Given the description of an element on the screen output the (x, y) to click on. 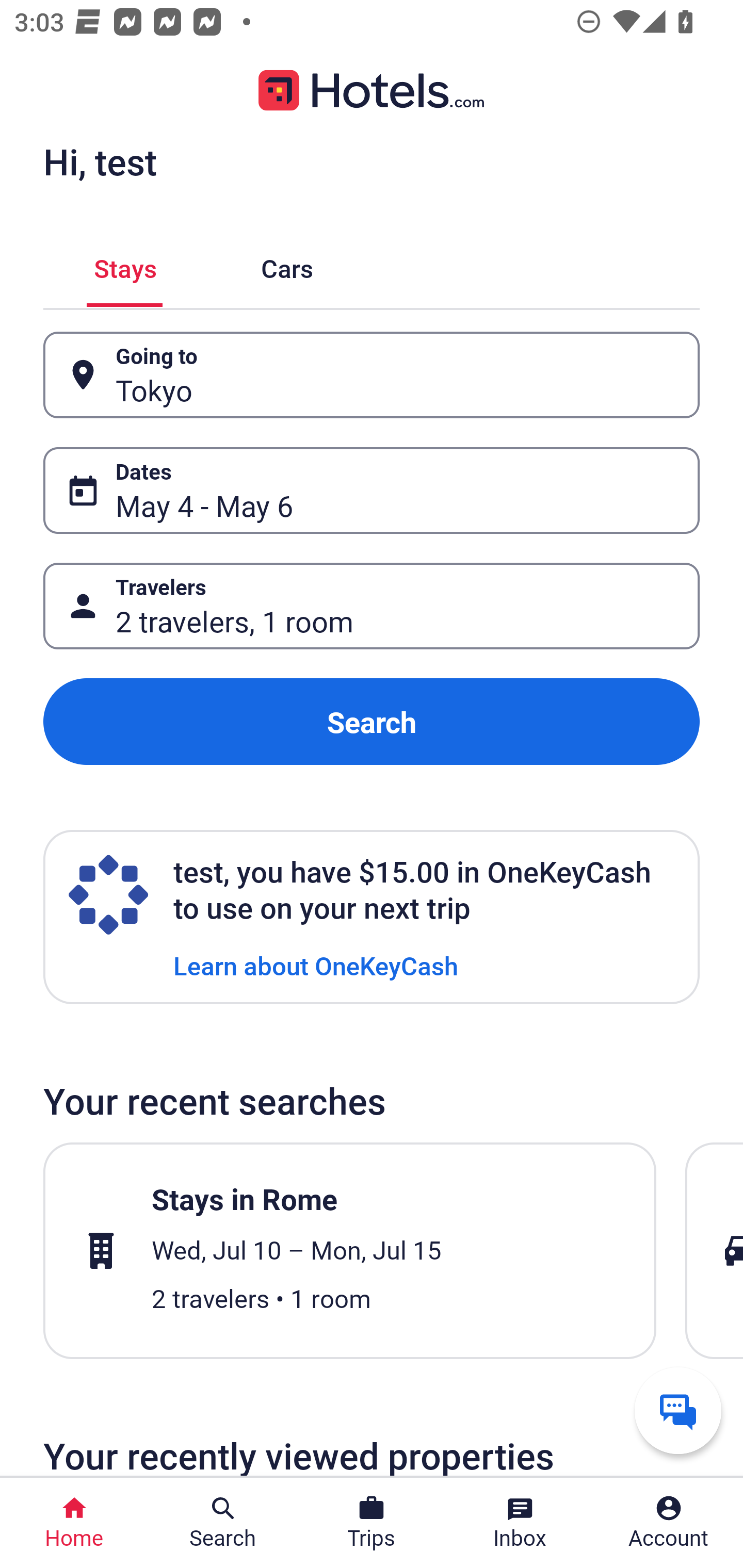
Hi, test (99, 161)
Cars (286, 265)
Going to Button Tokyo (371, 375)
Dates Button May 4 - May 6 (371, 489)
Travelers Button 2 travelers, 1 room (371, 605)
Search (371, 721)
Learn about OneKeyCash Learn about OneKeyCash Link (315, 964)
Get help from a virtual agent (677, 1410)
Search Search Button (222, 1522)
Trips Trips Button (371, 1522)
Inbox Inbox Button (519, 1522)
Account Profile. Button (668, 1522)
